Given the description of an element on the screen output the (x, y) to click on. 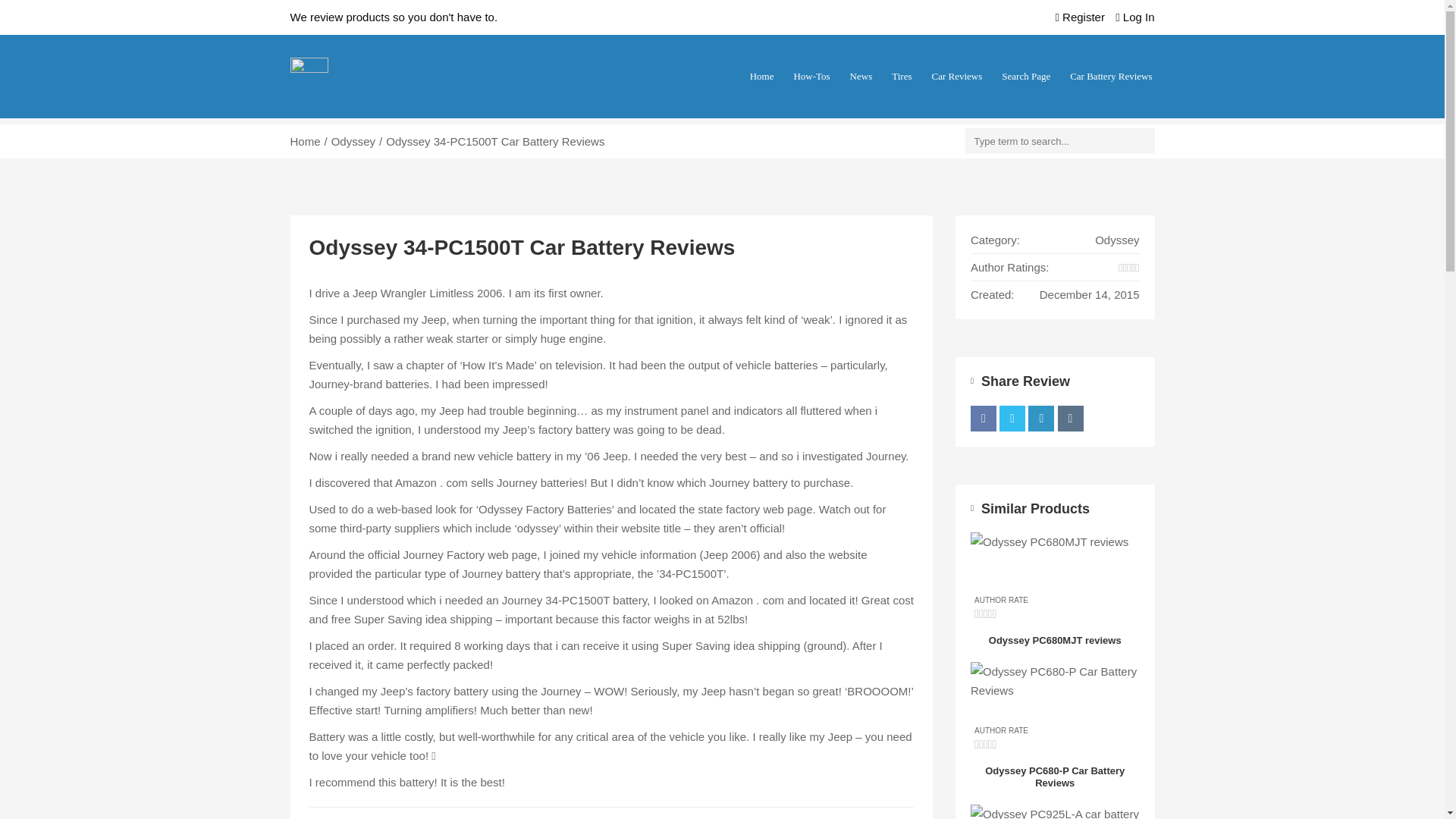
How-Tos (811, 76)
Log In (1134, 16)
Car Battery Reviews (1106, 76)
Odyssey PC680-P Car Battery Reviews (1055, 708)
News (861, 76)
Home (761, 76)
Search Page (1026, 76)
Share on Facebook (983, 417)
Odyssey (353, 141)
Register (1081, 16)
